Given the description of an element on the screen output the (x, y) to click on. 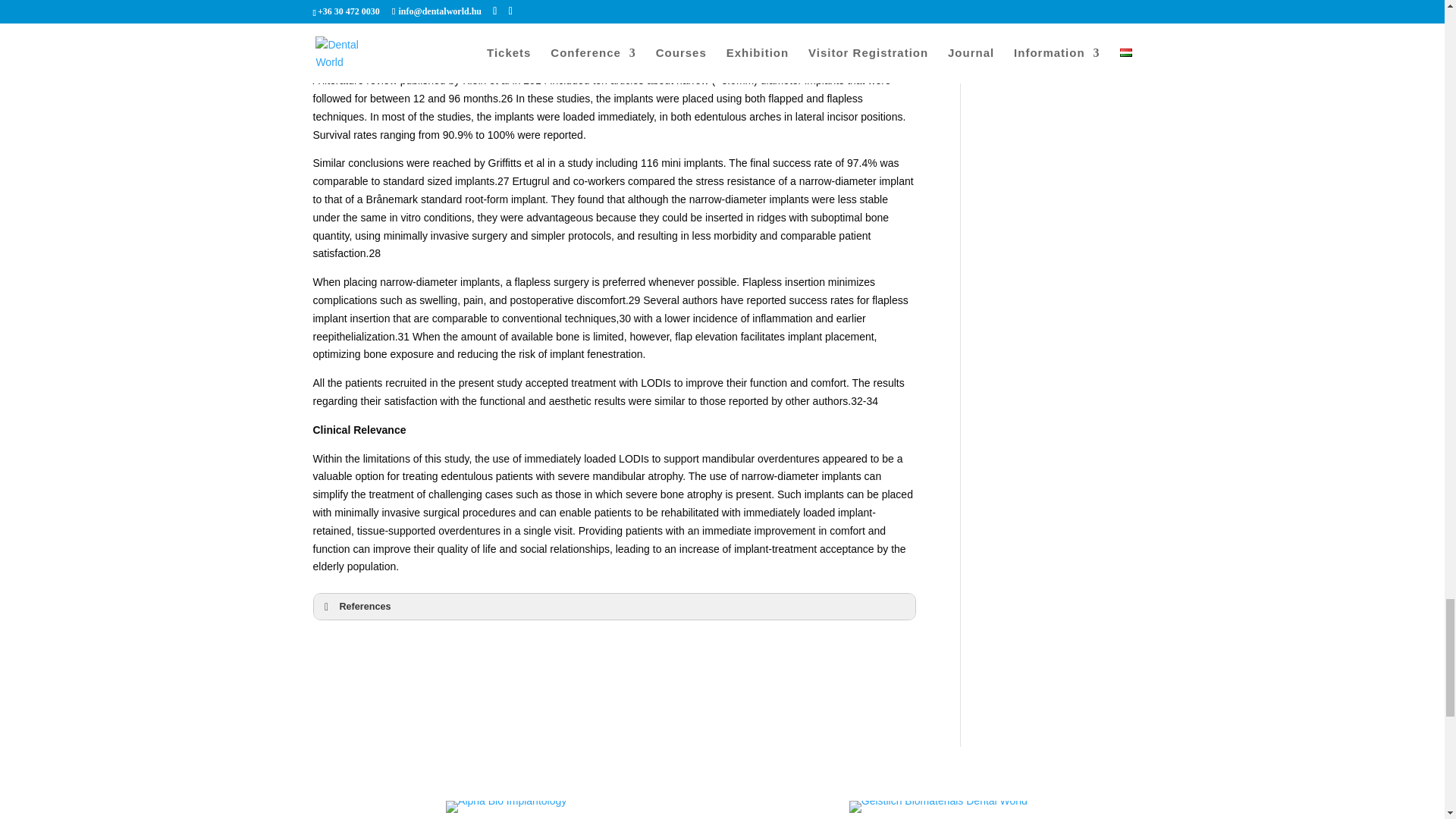
Alpha Bio (505, 809)
Geistlich (937, 809)
